Given the description of an element on the screen output the (x, y) to click on. 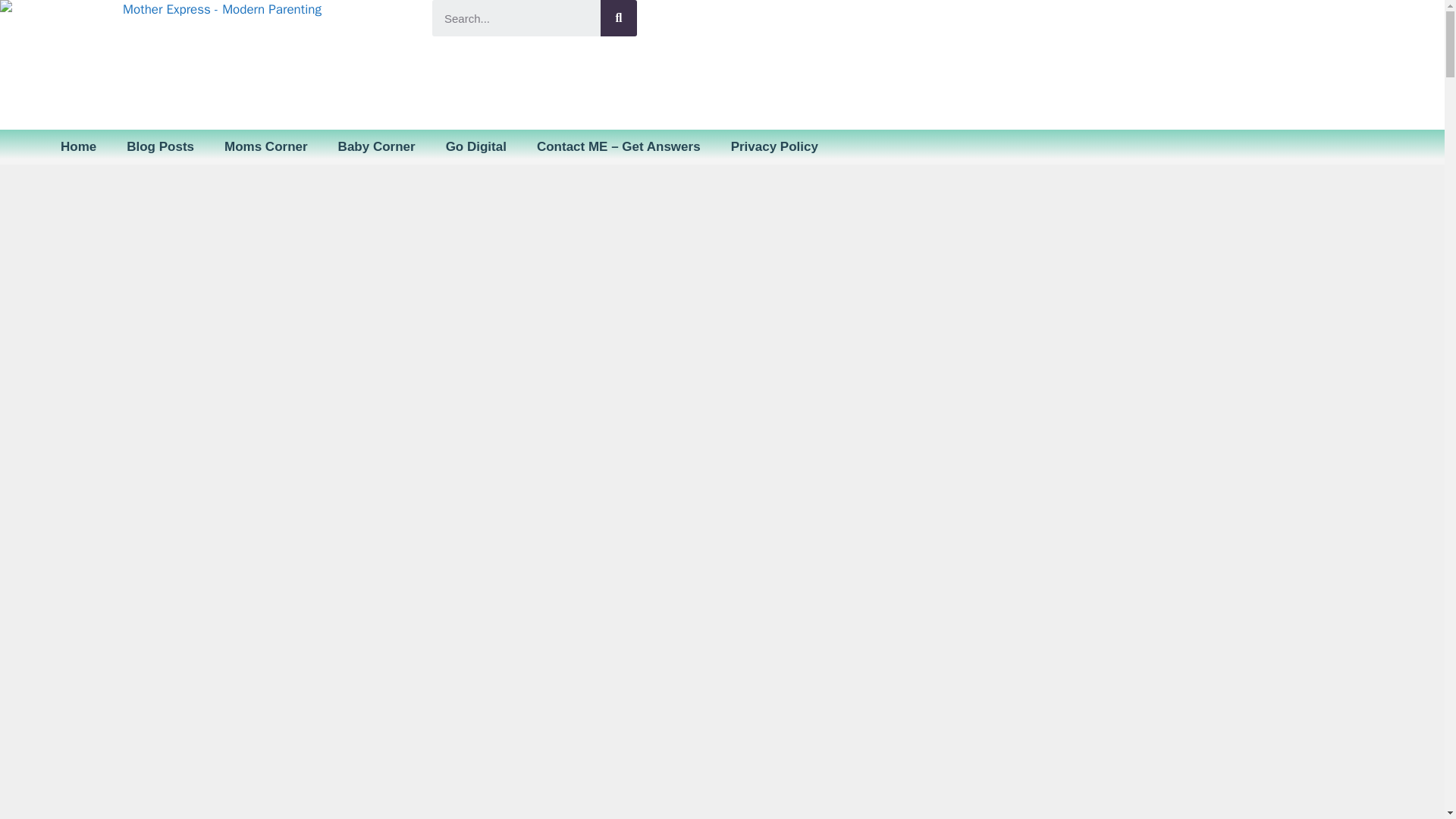
Privacy Policy (774, 146)
Baby Corner (376, 146)
Blog Posts (160, 146)
Go Digital (475, 146)
Moms Corner (266, 146)
Home (78, 146)
